Given the description of an element on the screen output the (x, y) to click on. 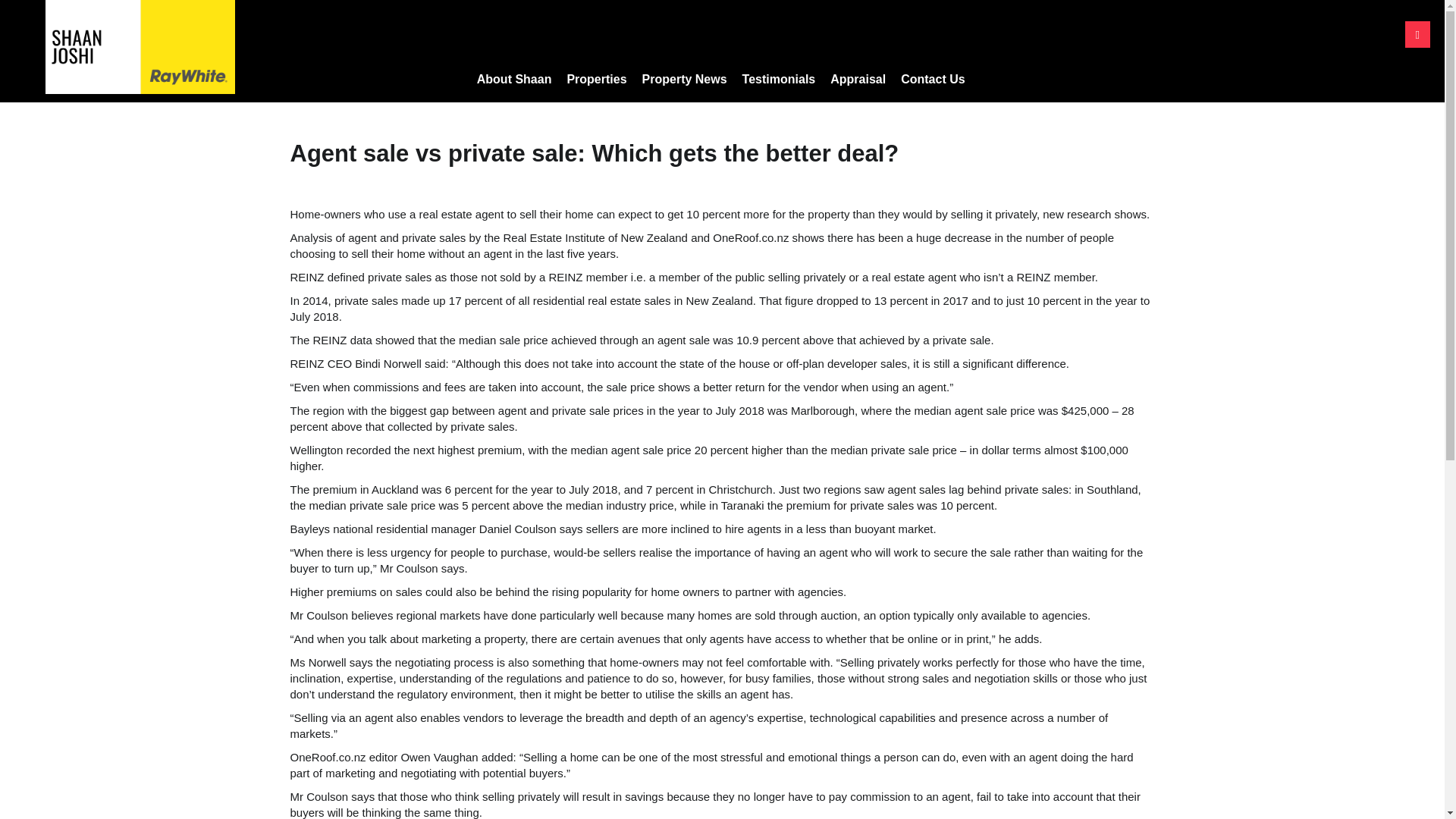
Property News (684, 79)
Appraisal (857, 79)
About Shaan (513, 79)
Testimonials (779, 79)
Properties (596, 79)
Contact Us (932, 79)
